Given the description of an element on the screen output the (x, y) to click on. 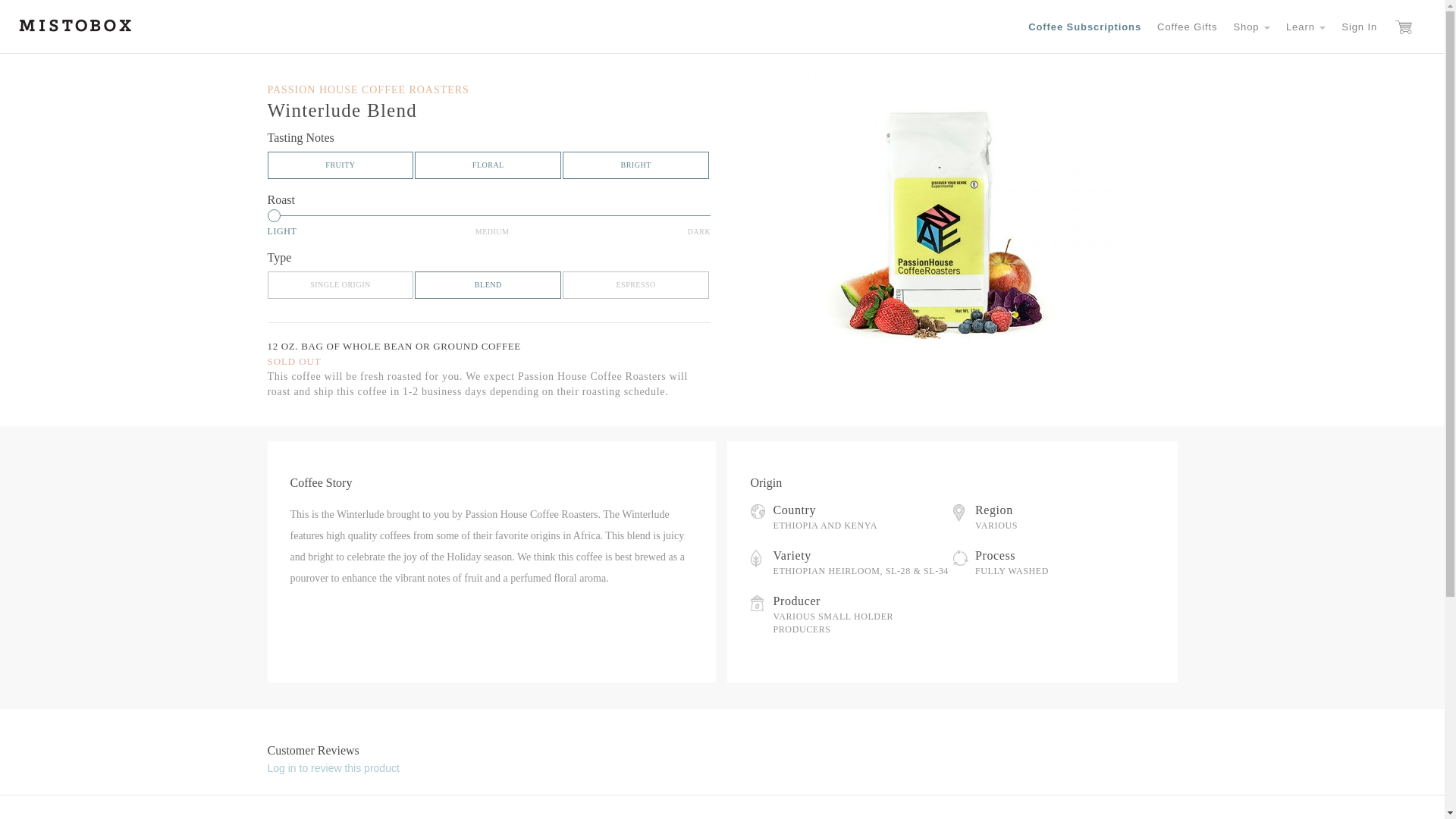
Sign In (1358, 26)
MistoBox (75, 24)
quiz (1084, 26)
Sign In (1358, 26)
Shop (1251, 26)
Learn (1305, 26)
Gift (1187, 26)
Coffee Subscriptions (1084, 26)
Coffee Gifts (1187, 26)
